Given the description of an element on the screen output the (x, y) to click on. 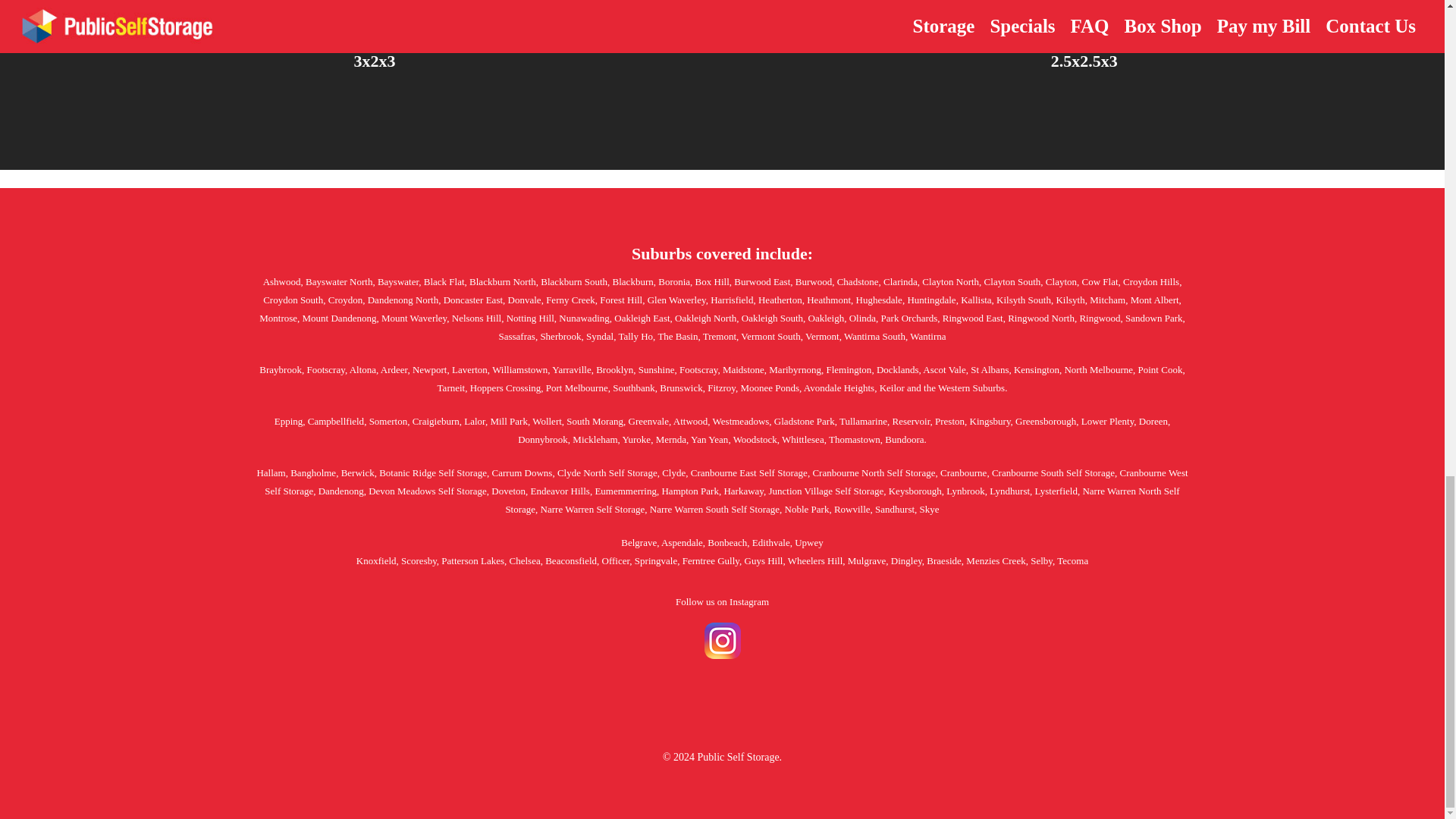
Blackburn South (573, 281)
Black Flat (443, 281)
Burwood East (761, 281)
Chadstone (858, 281)
Boronia (674, 281)
Bayswater North (338, 281)
Blackburn (632, 281)
Box Hill (712, 281)
Bayswater (398, 281)
Burwood (812, 281)
Blackburn North (501, 281)
Clayton North (949, 281)
Clarinda (900, 281)
Ashwood (282, 281)
